Given the description of an element on the screen output the (x, y) to click on. 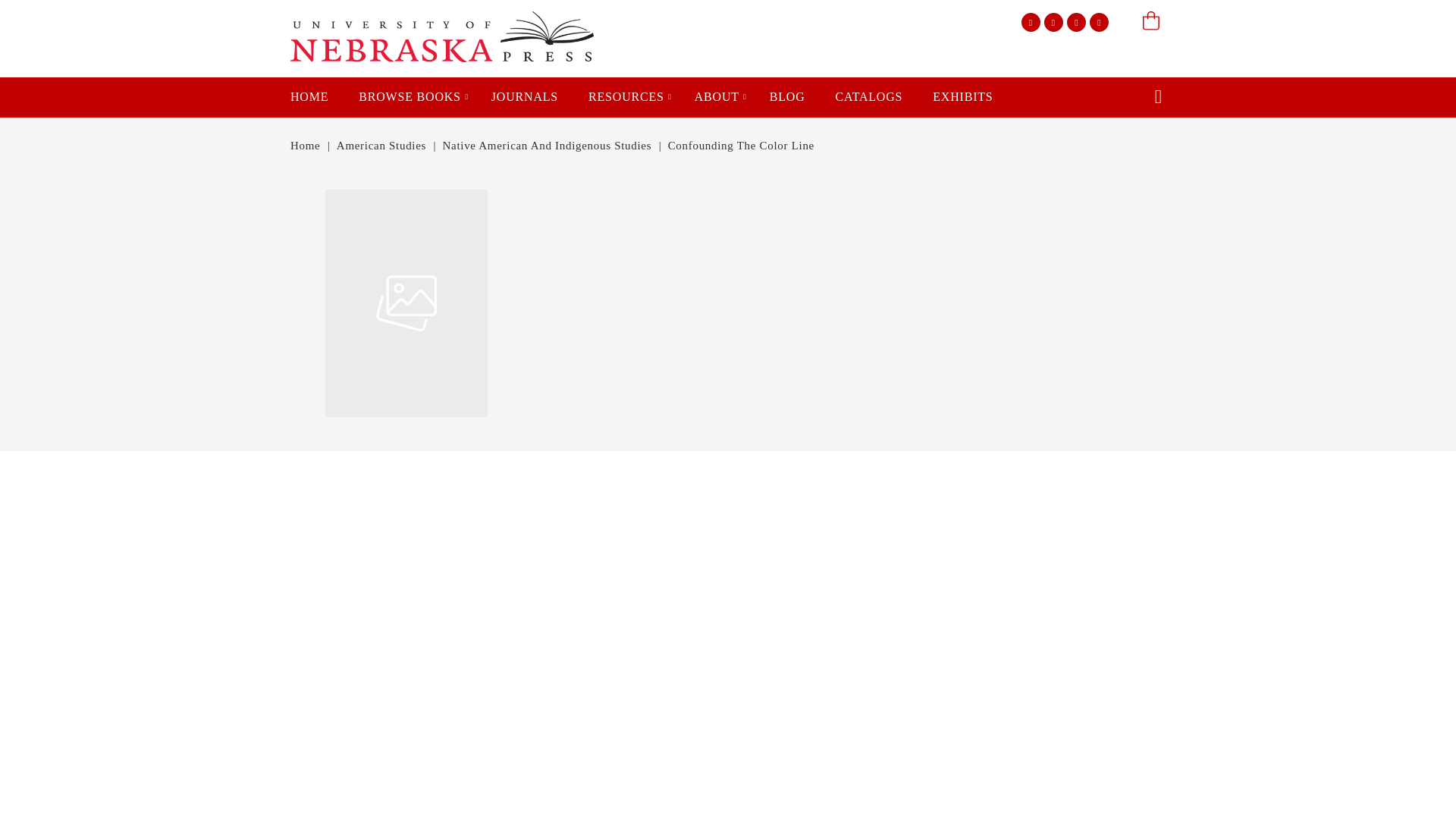
JOURNALS (524, 96)
Follow us on Instagram (1098, 22)
Follow us on Pinterest (1076, 22)
Follow us on Facebook (1031, 22)
Back to homepage (304, 145)
RESOURCES (625, 96)
HOME (309, 96)
View results for native american and indigenous studies (547, 145)
ABOUT (716, 96)
BROWSE BOOKS (409, 96)
